Given the description of an element on the screen output the (x, y) to click on. 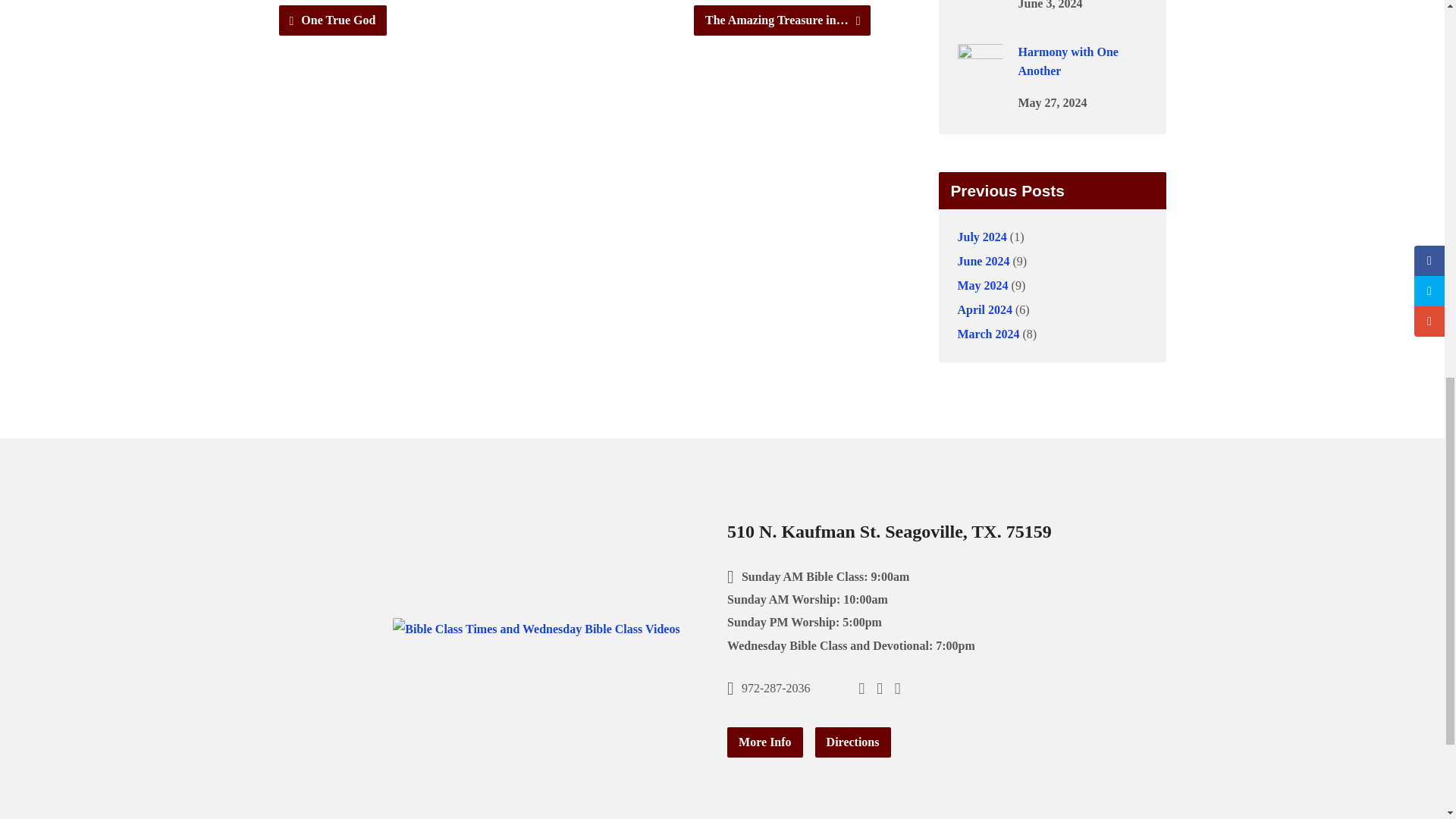
Wake Up! (979, 2)
Harmony with One Another (979, 78)
Harmony with One Another (1067, 61)
